Given the description of an element on the screen output the (x, y) to click on. 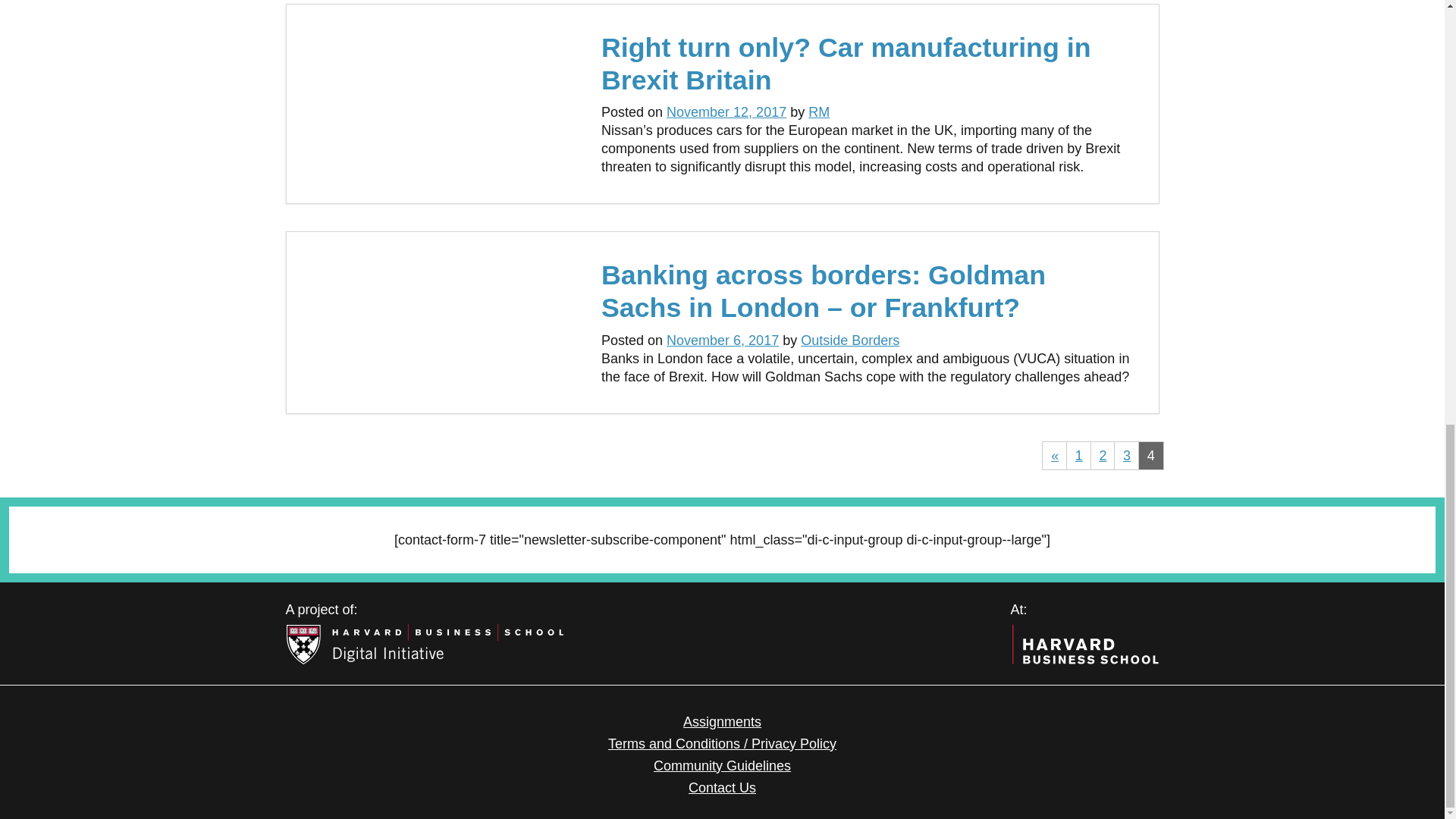
November 12, 2017 (726, 111)
Community Guidelines (721, 765)
RM (818, 111)
Assignments (721, 721)
Contact Us (721, 787)
Right turn only? Car manufacturing in Brexit Britain (845, 63)
November 6, 2017 (722, 340)
Outside Borders (849, 340)
